Given the description of an element on the screen output the (x, y) to click on. 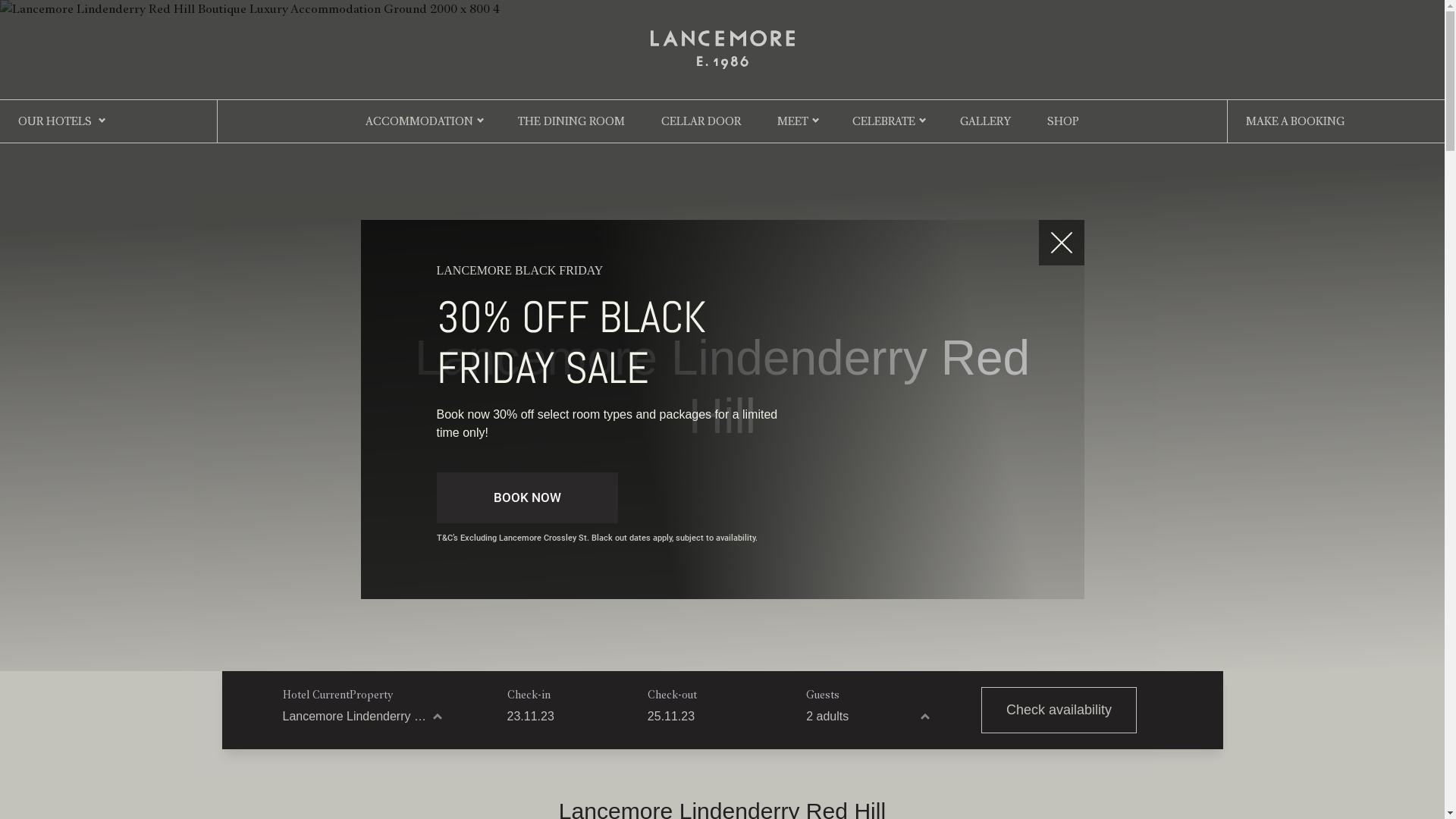
MEET Element type: text (792, 121)
ACCOMMODATION Element type: text (419, 121)
MAKE A BOOKING Element type: text (1294, 121)
THE DINING ROOM Element type: text (571, 121)
Check availability Element type: text (1058, 710)
GALLERY Element type: text (985, 121)
SHOP Element type: text (1063, 121)
Lancemore group Element type: hover (722, 46)
CELEBRATE Element type: text (883, 121)
BOOK NOW Element type: text (527, 498)
OUR HOTELS Element type: text (54, 121)
CELLAR DOOR Element type: text (701, 121)
